Given the description of an element on the screen output the (x, y) to click on. 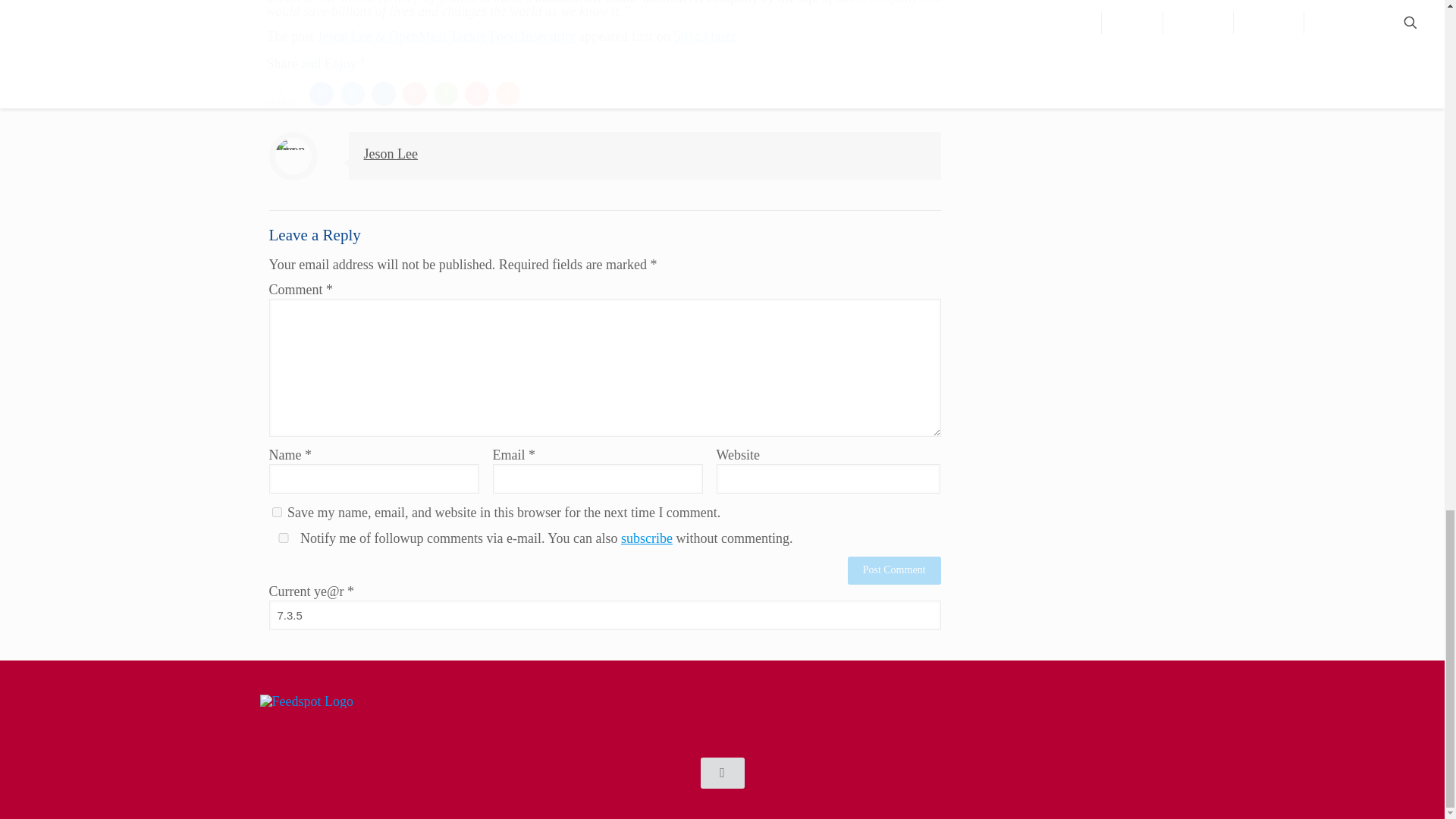
Convert to PDF (476, 93)
Post Comment (893, 570)
Share this on Facebook (320, 93)
Print this article  (445, 93)
501c3.buzz (705, 36)
Post Comment (893, 570)
yes (275, 511)
More share links (507, 93)
subscribe (646, 538)
Submit this to Pinterest (414, 93)
